Given the description of an element on the screen output the (x, y) to click on. 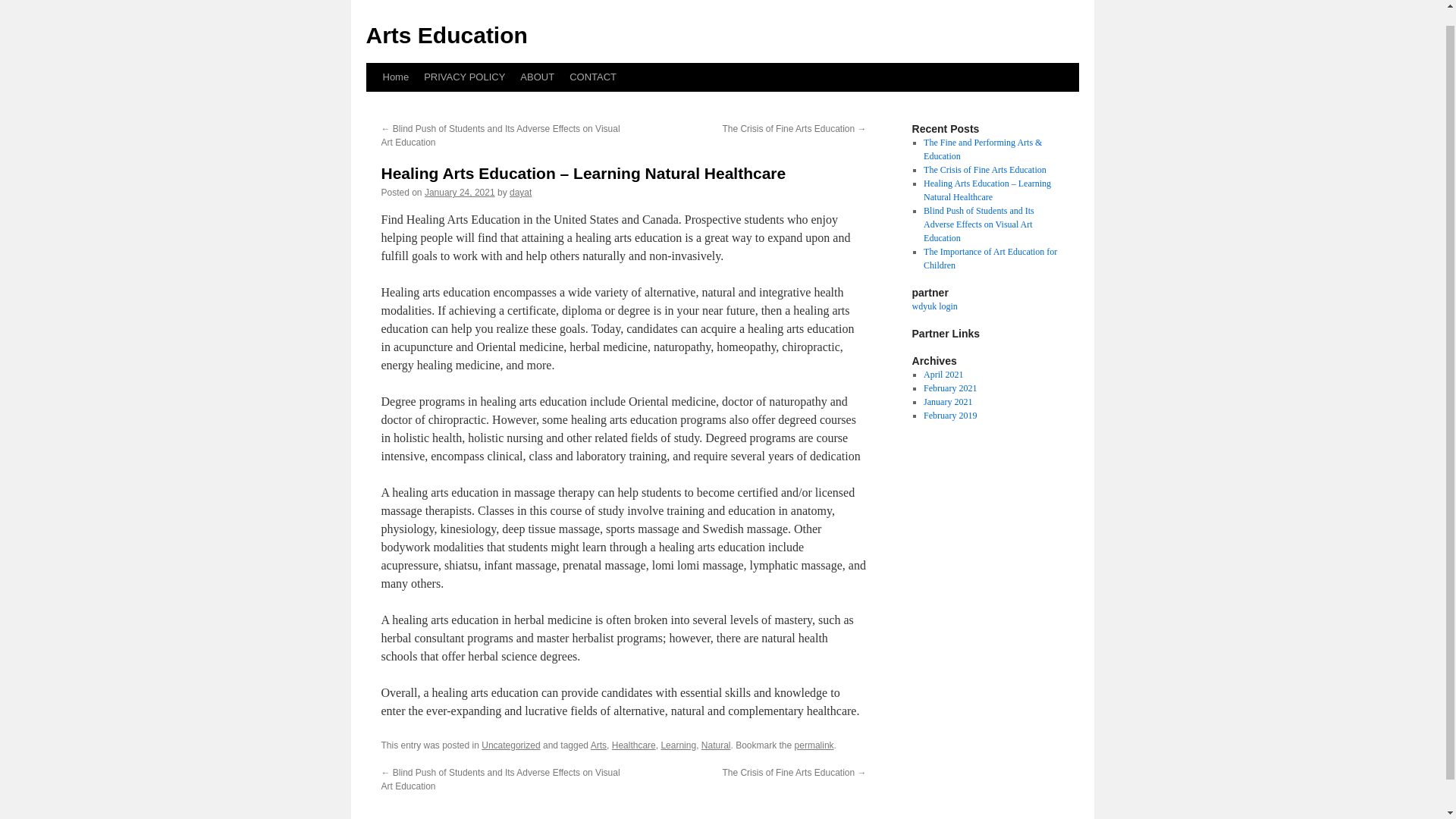
February 2021 (949, 388)
PRIVACY POLICY (464, 77)
April 2021 (942, 374)
CONTACT (593, 77)
permalink (814, 745)
dayat (520, 192)
Home (395, 77)
Home (395, 77)
The Crisis of Fine Arts Education (984, 169)
CONTACT (593, 77)
wdyuk login (933, 306)
Arts Education (446, 34)
View all posts in Uncategorized (510, 745)
Learning (678, 745)
